Given the description of an element on the screen output the (x, y) to click on. 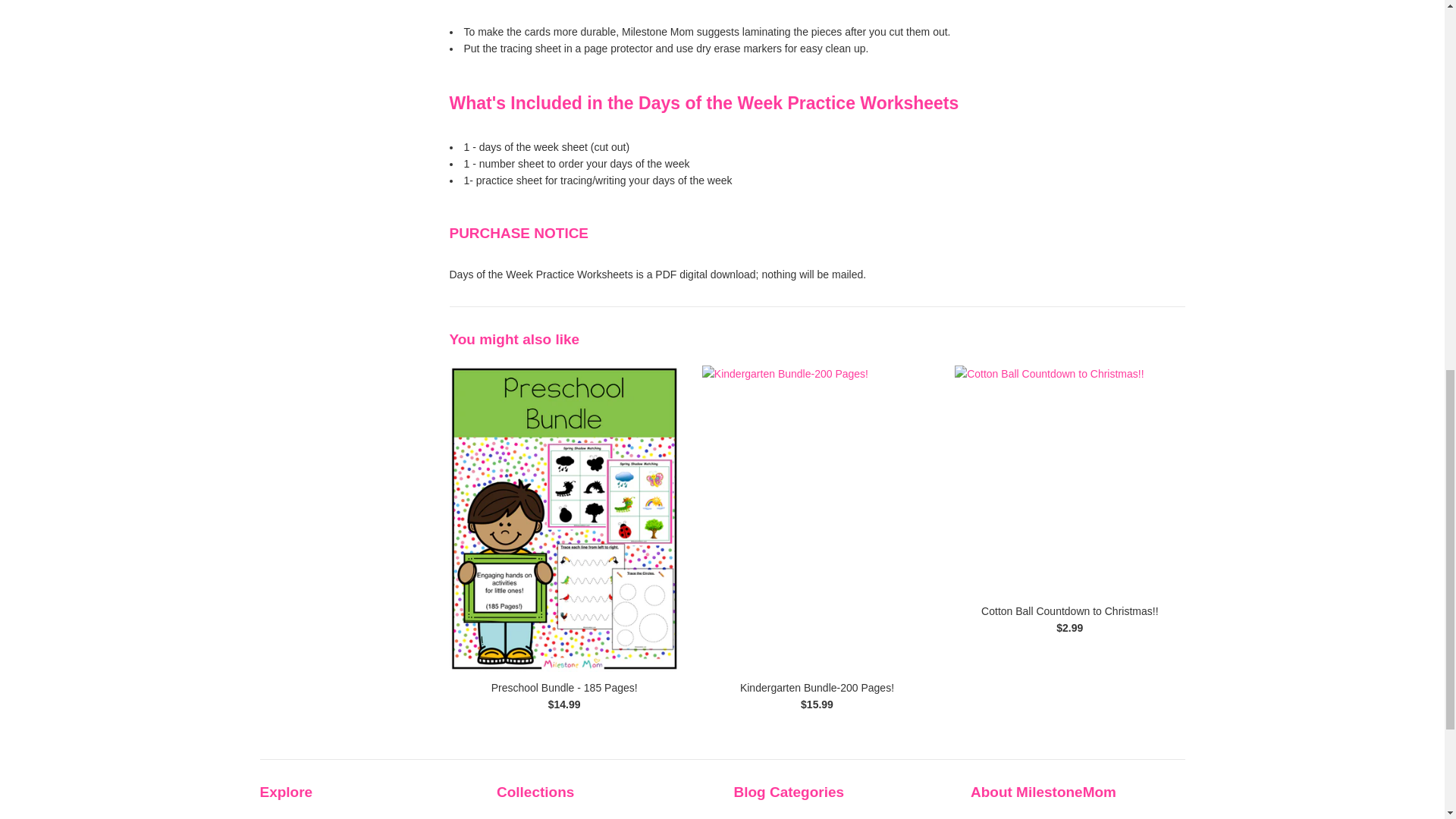
Cotton Ball Countdown to Christmas!! (1070, 480)
Preschool Bundle - 185 Pages! (564, 687)
